Given the description of an element on the screen output the (x, y) to click on. 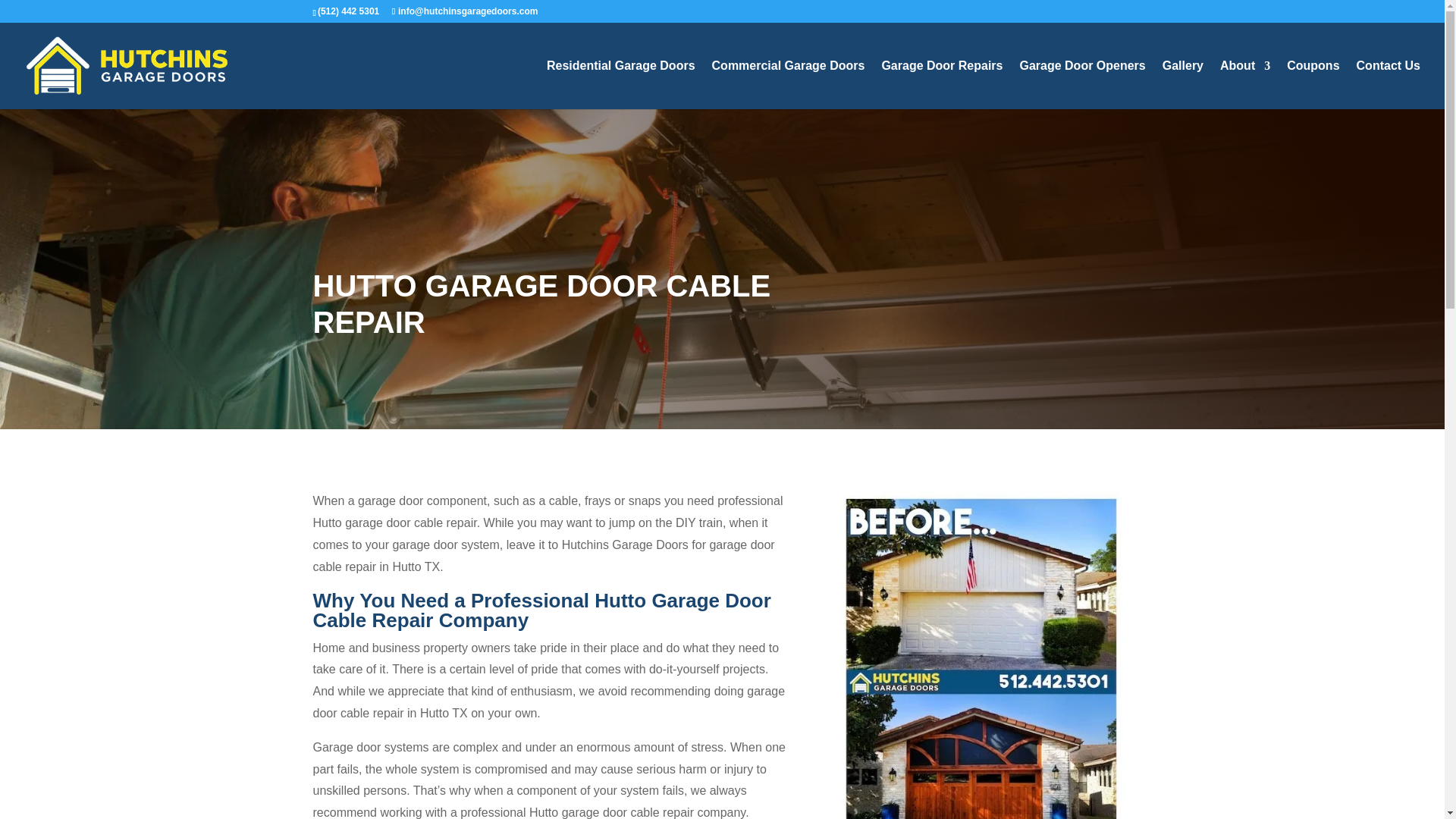
Garage Door Repairs (941, 84)
Residential Garage Doors (621, 84)
Contact Us (1388, 84)
Commercial Garage Doors (787, 84)
About (1244, 84)
garage-before-and-after-image3 (981, 654)
Coupons (1313, 84)
Garage Door Openers (1081, 84)
